Given the description of an element on the screen output the (x, y) to click on. 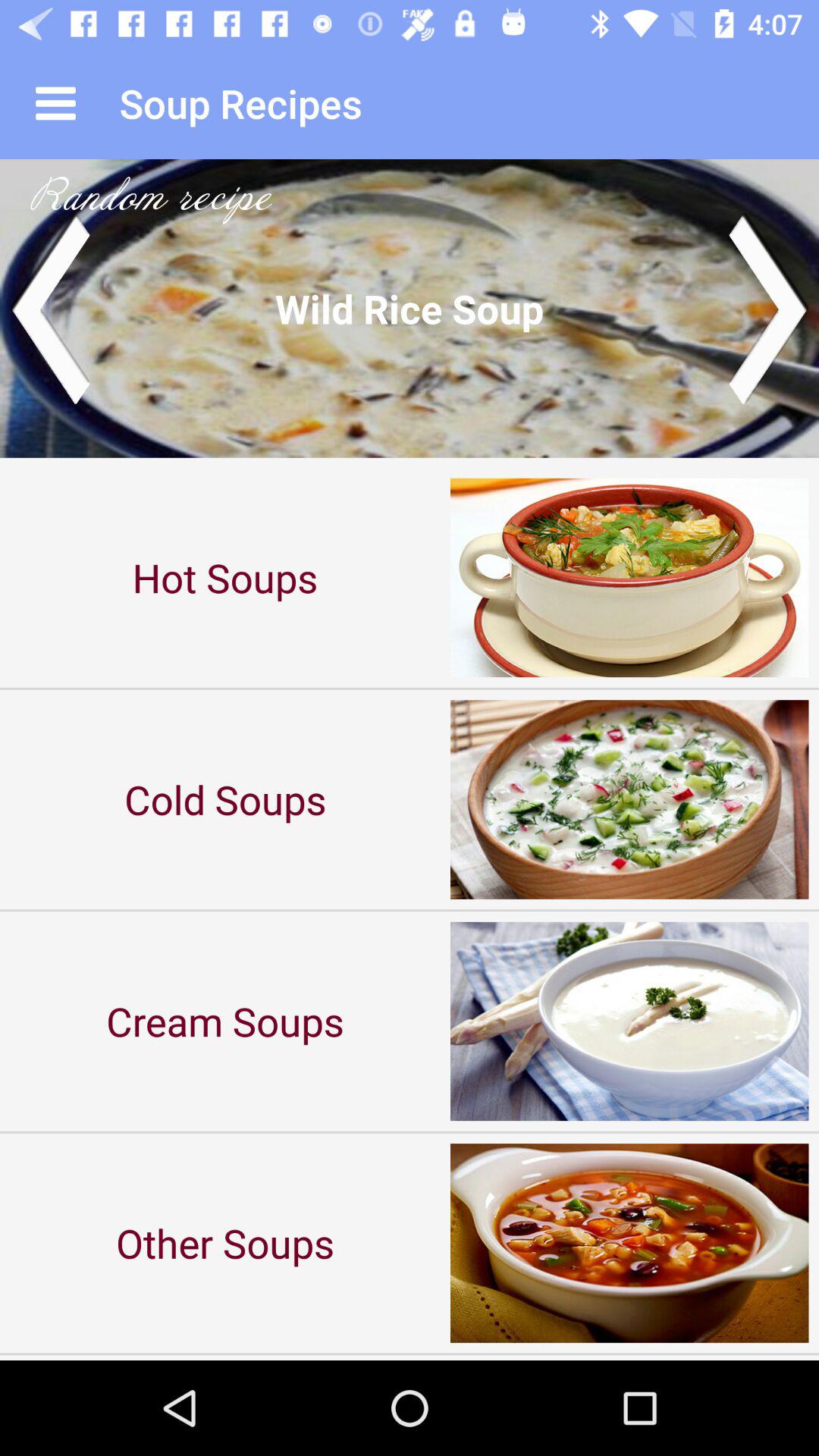
previous image (49, 308)
